Given the description of an element on the screen output the (x, y) to click on. 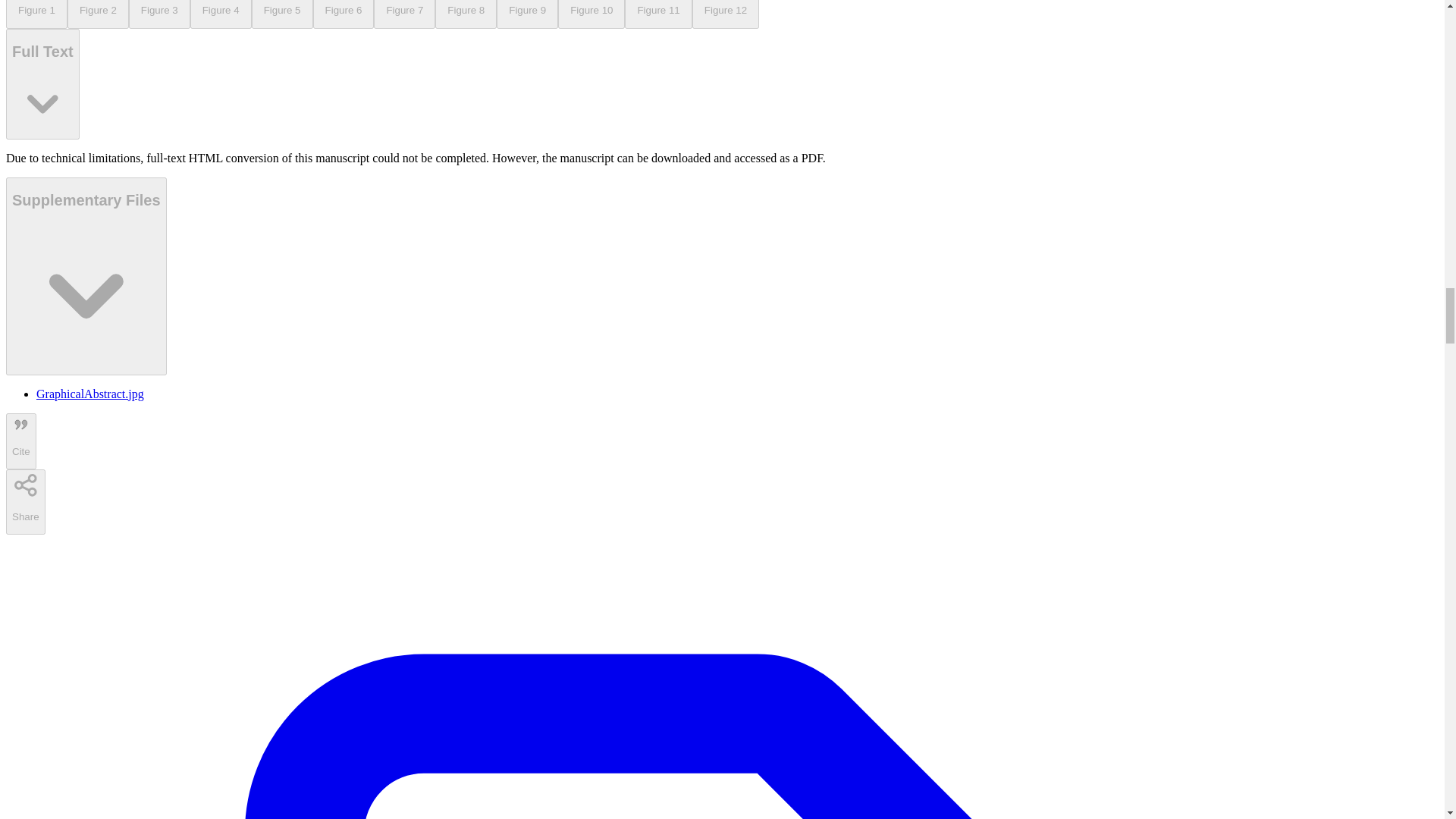
Figure 6 (343, 14)
Figure 8 (465, 14)
Figure 3 (159, 14)
Figure 4 (220, 14)
Figure 7 (404, 14)
Figure 1 (35, 14)
Figure 5 (282, 14)
Figure 2 (97, 14)
Figure 9 (526, 14)
